Given the description of an element on the screen output the (x, y) to click on. 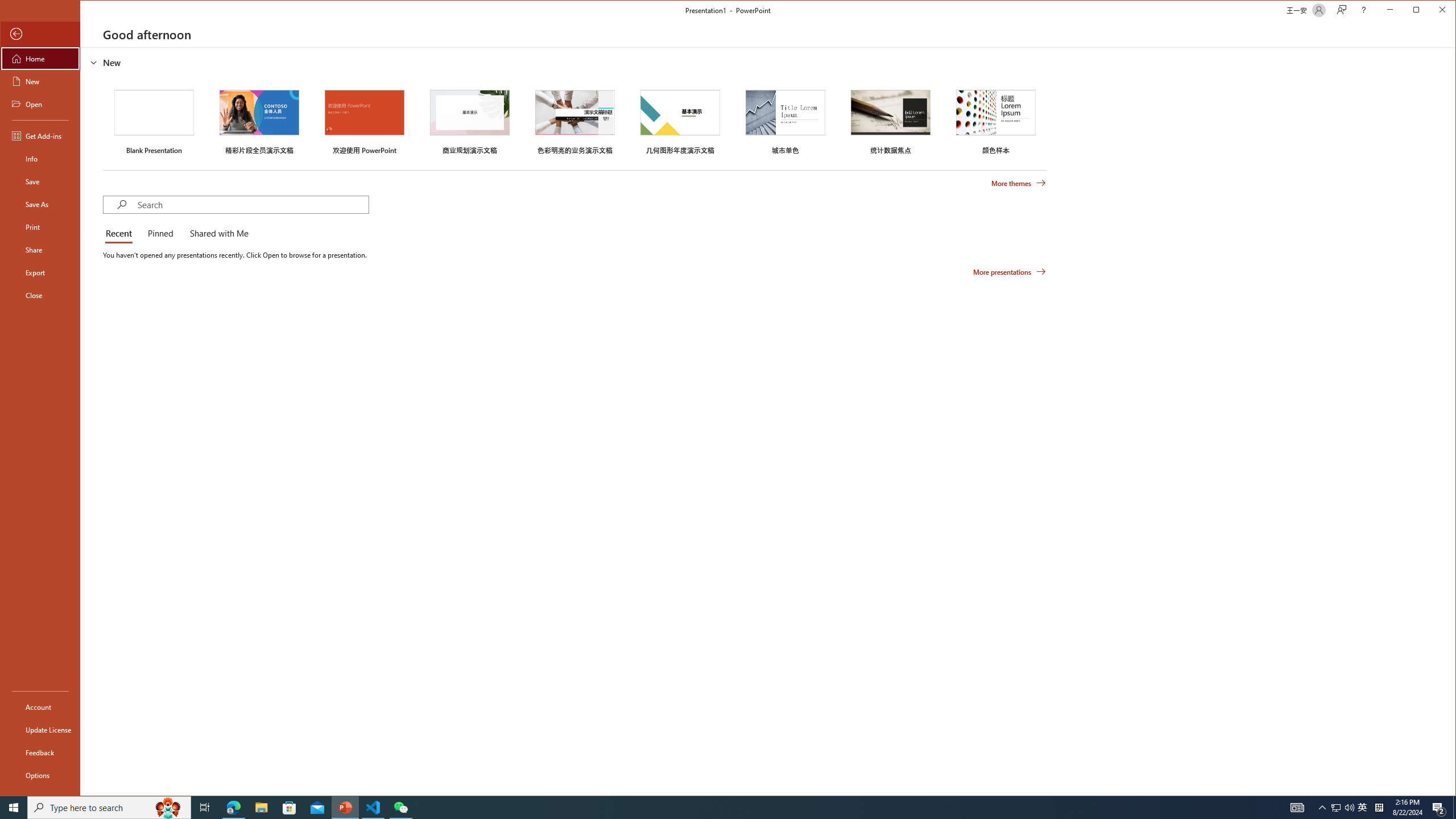
Account (40, 706)
Info (40, 158)
